Given the description of an element on the screen output the (x, y) to click on. 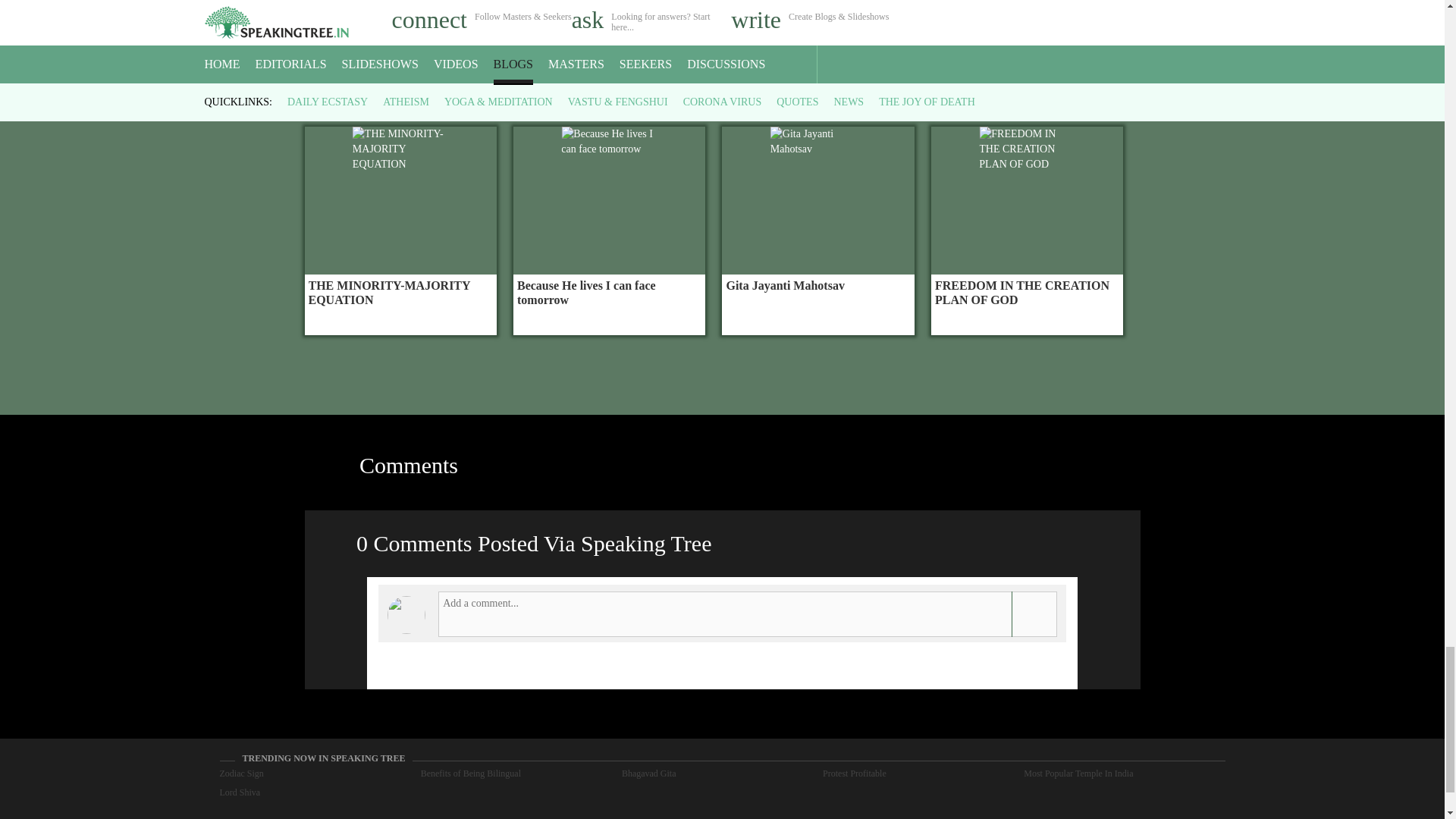
RESULT-ORIENTED ACTION (609, 26)
The art of acceptance and happiness (1026, 26)
Success....The Other End Of Failure (818, 26)
The Key to Success (400, 26)
